Given the description of an element on the screen output the (x, y) to click on. 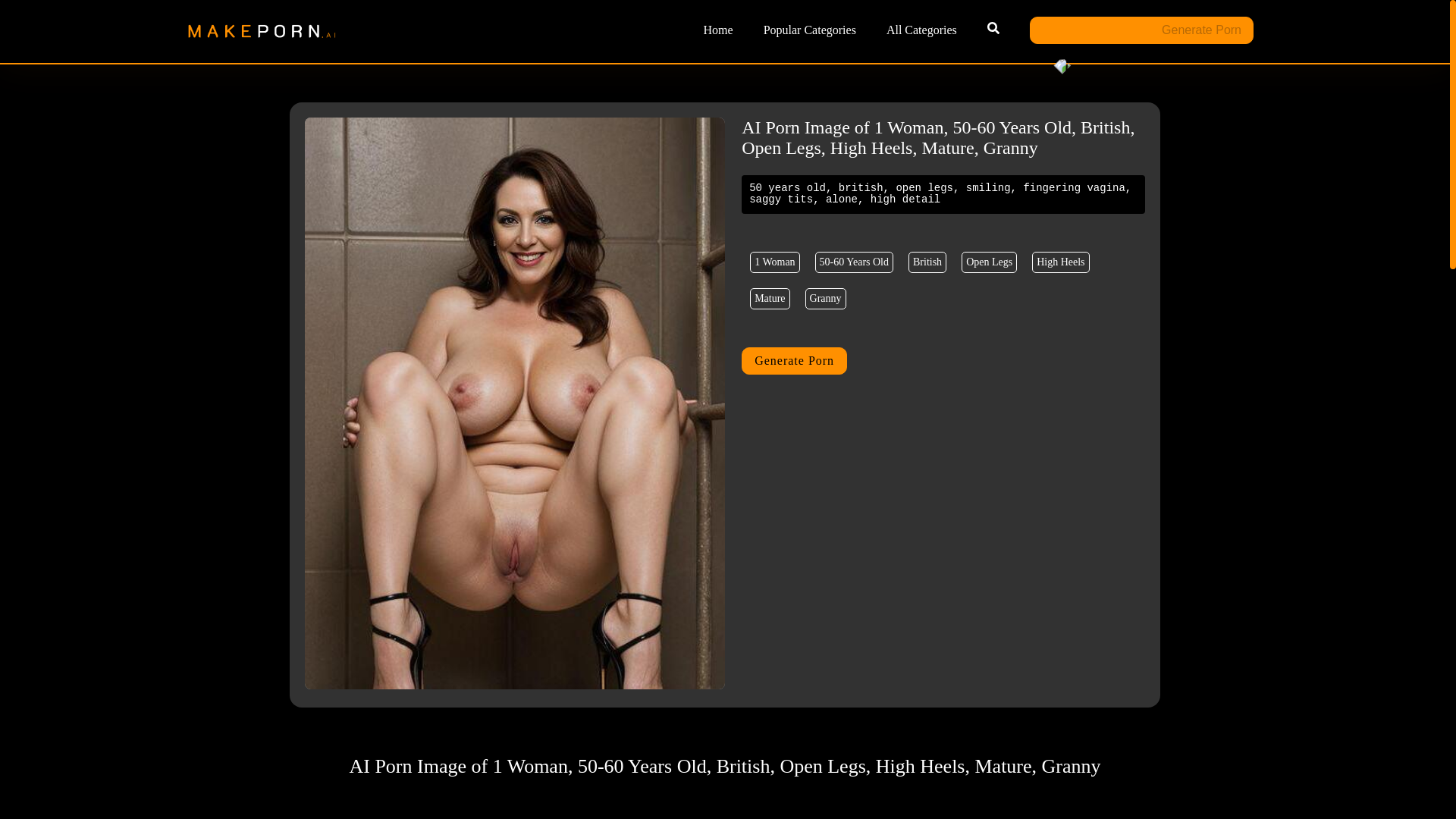
  Generate Porn (1141, 30)
50-60 Years Old (854, 261)
1 Woman (774, 261)
High Heels (1060, 261)
Granny (825, 298)
All Categories (921, 30)
Home (718, 30)
Popular Categories (809, 30)
British (927, 261)
Generate Porn (794, 360)
Mature (769, 298)
Open Legs (988, 261)
  Generate Porn (1141, 30)
